Given the description of an element on the screen output the (x, y) to click on. 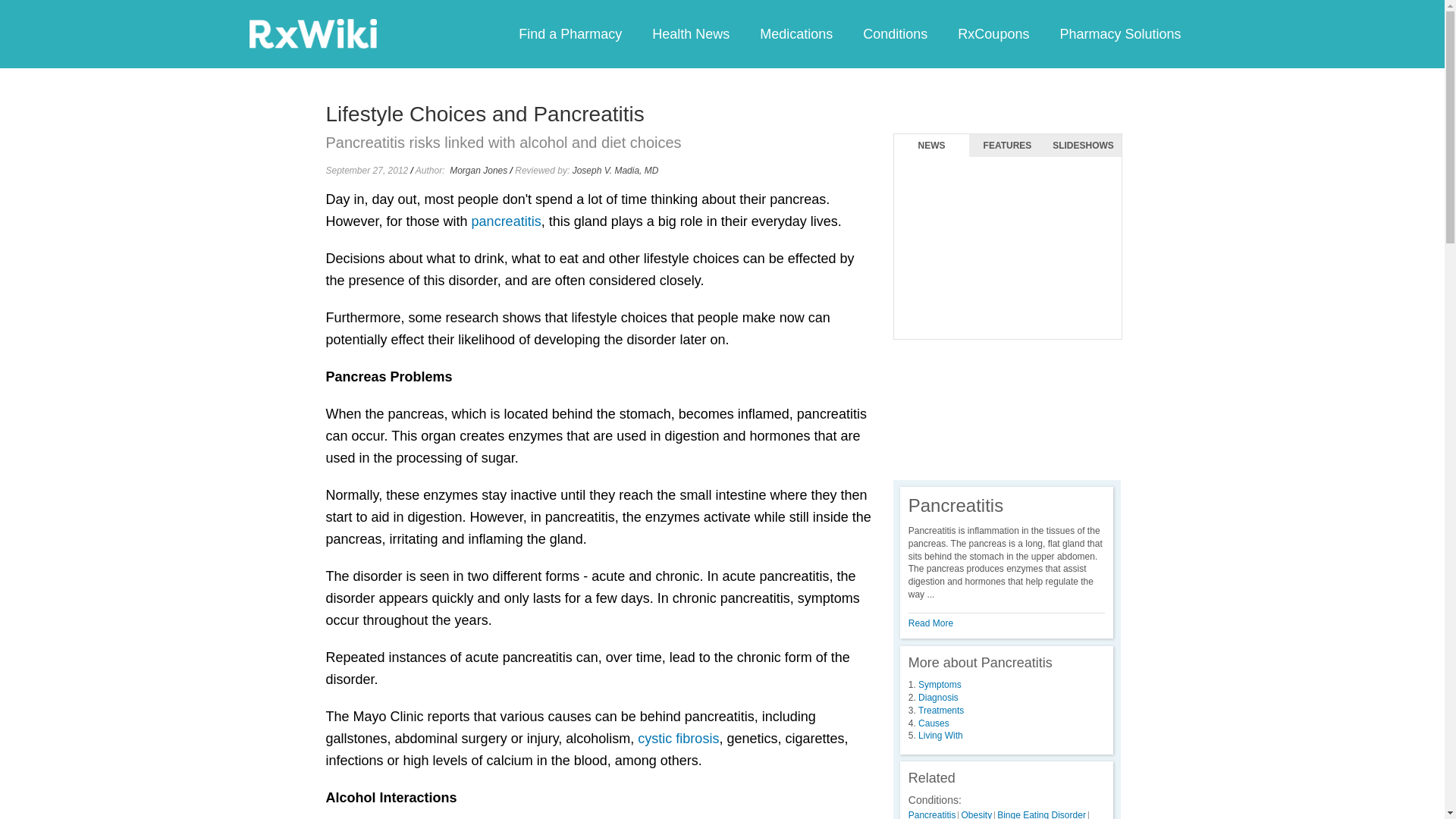
Find a Pharmacy (570, 33)
NEWS (931, 145)
cystic fibrosis (678, 738)
RxCoupons (992, 33)
Medications (795, 33)
Joseph V. Madia, MD (615, 170)
Conditions (894, 33)
FEATURES (1007, 145)
Pharmacy Solutions (1119, 33)
Health News (690, 33)
